Given the description of an element on the screen output the (x, y) to click on. 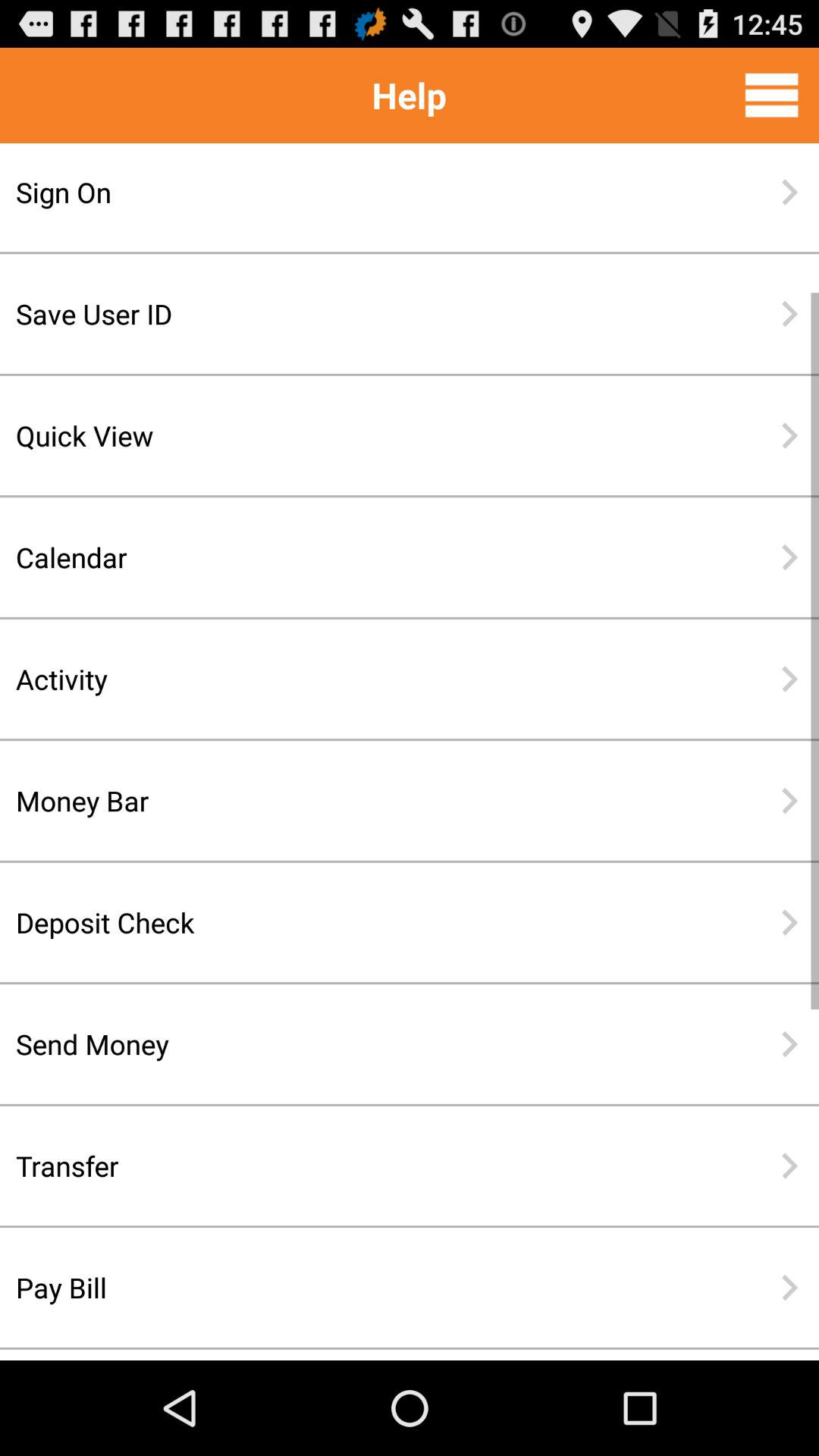
menu bar (771, 95)
